Given the description of an element on the screen output the (x, y) to click on. 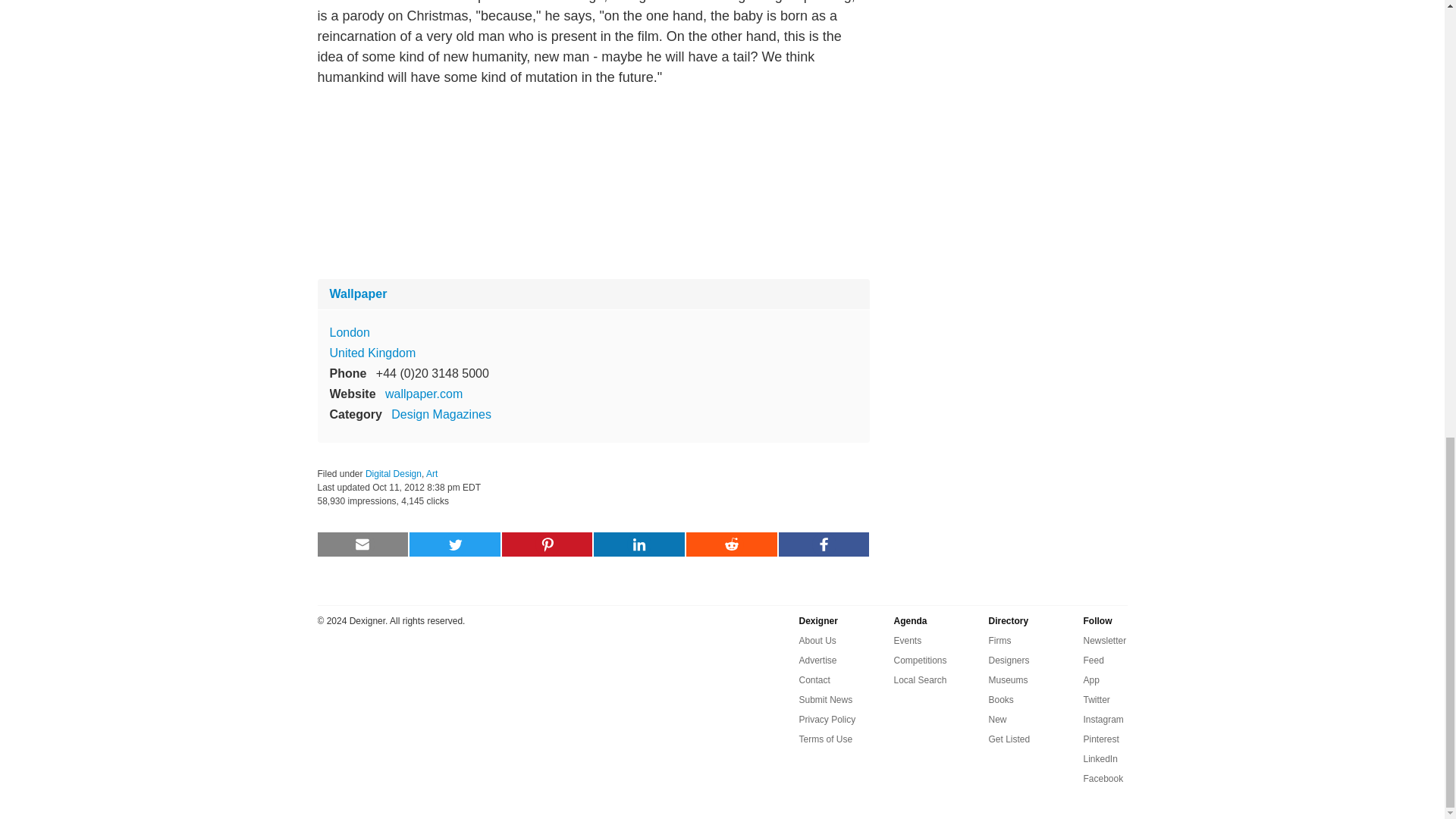
Designers (1008, 660)
Twitter (1096, 700)
Competitions (919, 660)
United Kingdom (371, 352)
Events (907, 640)
Books (1000, 700)
Wallpaper (358, 293)
wallpaper.com (424, 393)
Submit News (826, 700)
Digital Design (393, 473)
About Us (817, 640)
Advertise (818, 660)
Advertisement (593, 183)
View on Map (349, 332)
Firms (999, 640)
